Given the description of an element on the screen output the (x, y) to click on. 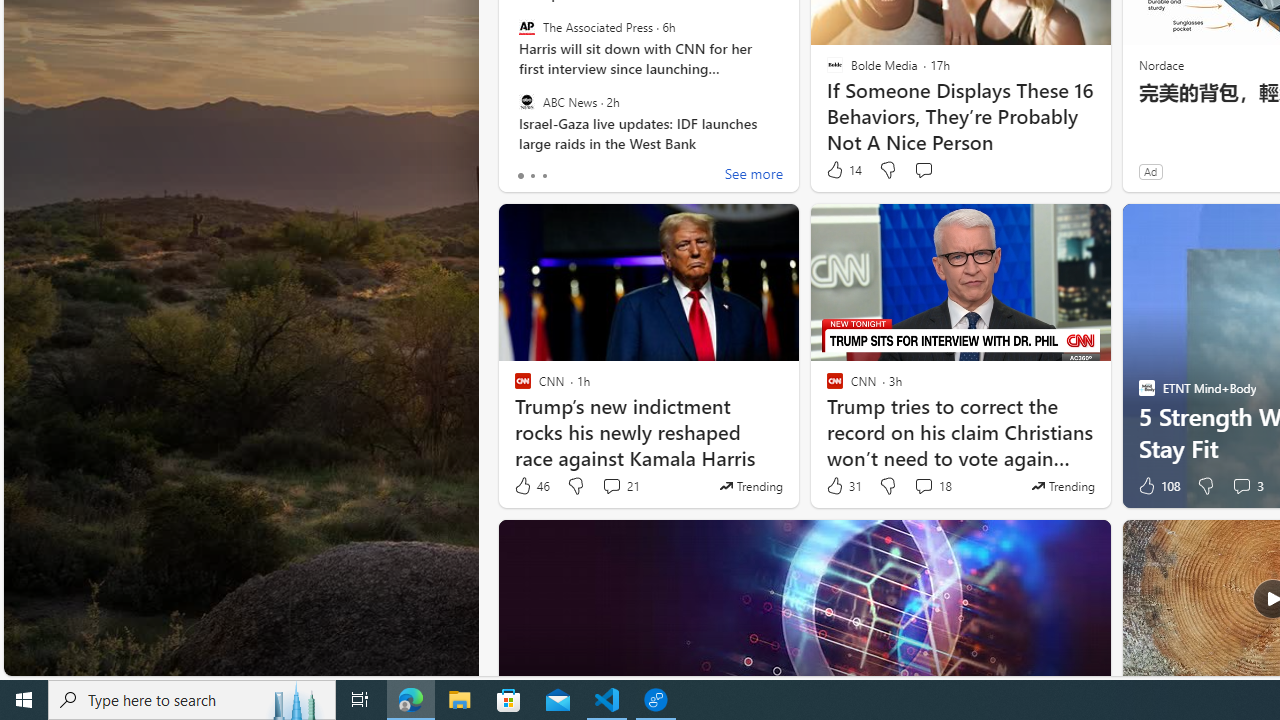
View comments 3 Comment (1241, 485)
View comments 18 Comment (932, 485)
108 Like (1157, 485)
46 Like (531, 485)
31 Like (843, 485)
View comments 21 Comment (619, 485)
